Given the description of an element on the screen output the (x, y) to click on. 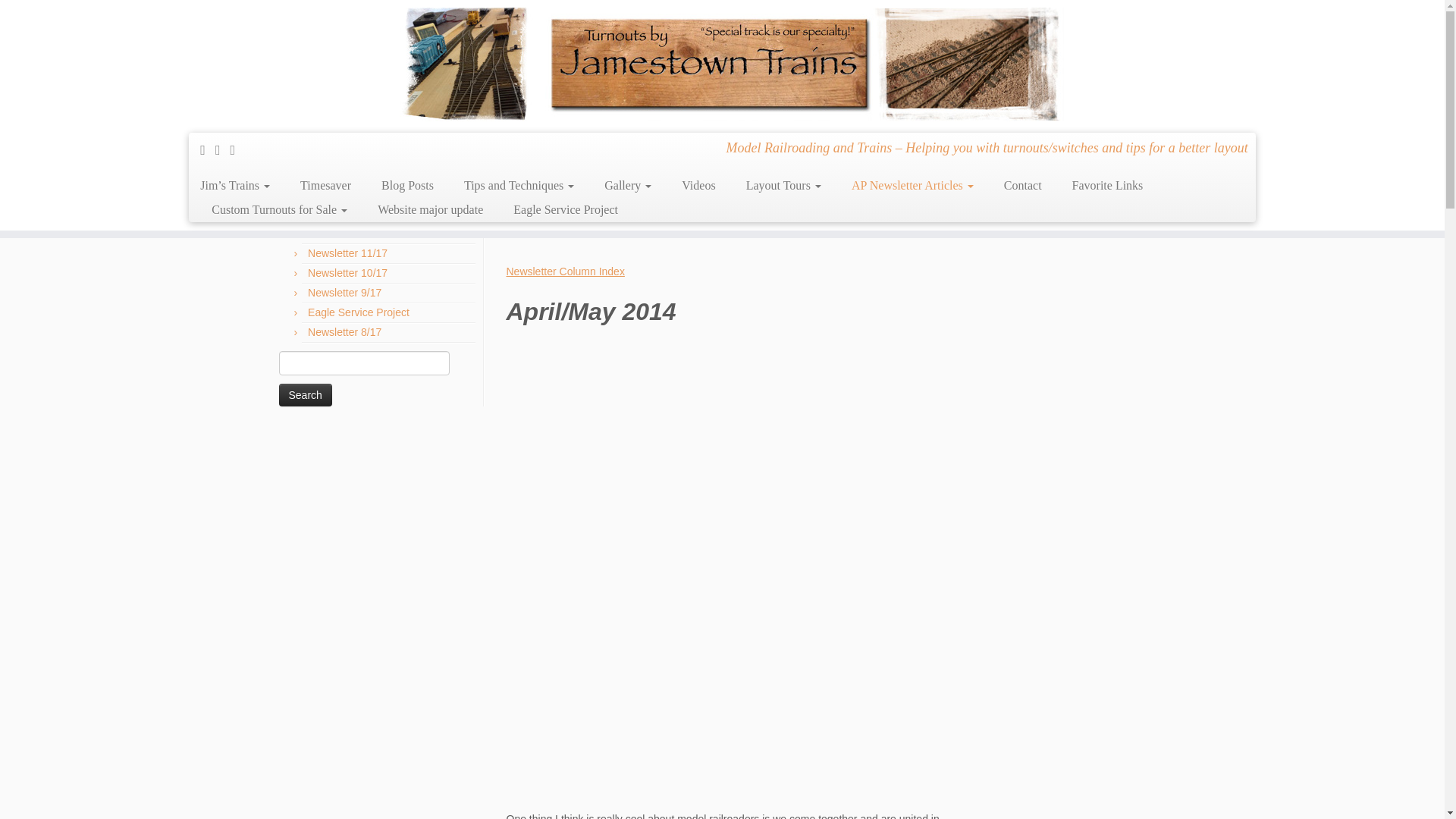
Promontory Post (357, 105)
Tips and Techniques (518, 185)
Follow me on Facebook (238, 150)
Timesaver (325, 185)
Jamestown Trains (293, 105)
View all posts in Promontory Post (606, 182)
Subscribe to my rss feed (207, 150)
E-mail (222, 150)
6:24 pm (531, 182)
View all posts by admin (763, 182)
